Given the description of an element on the screen output the (x, y) to click on. 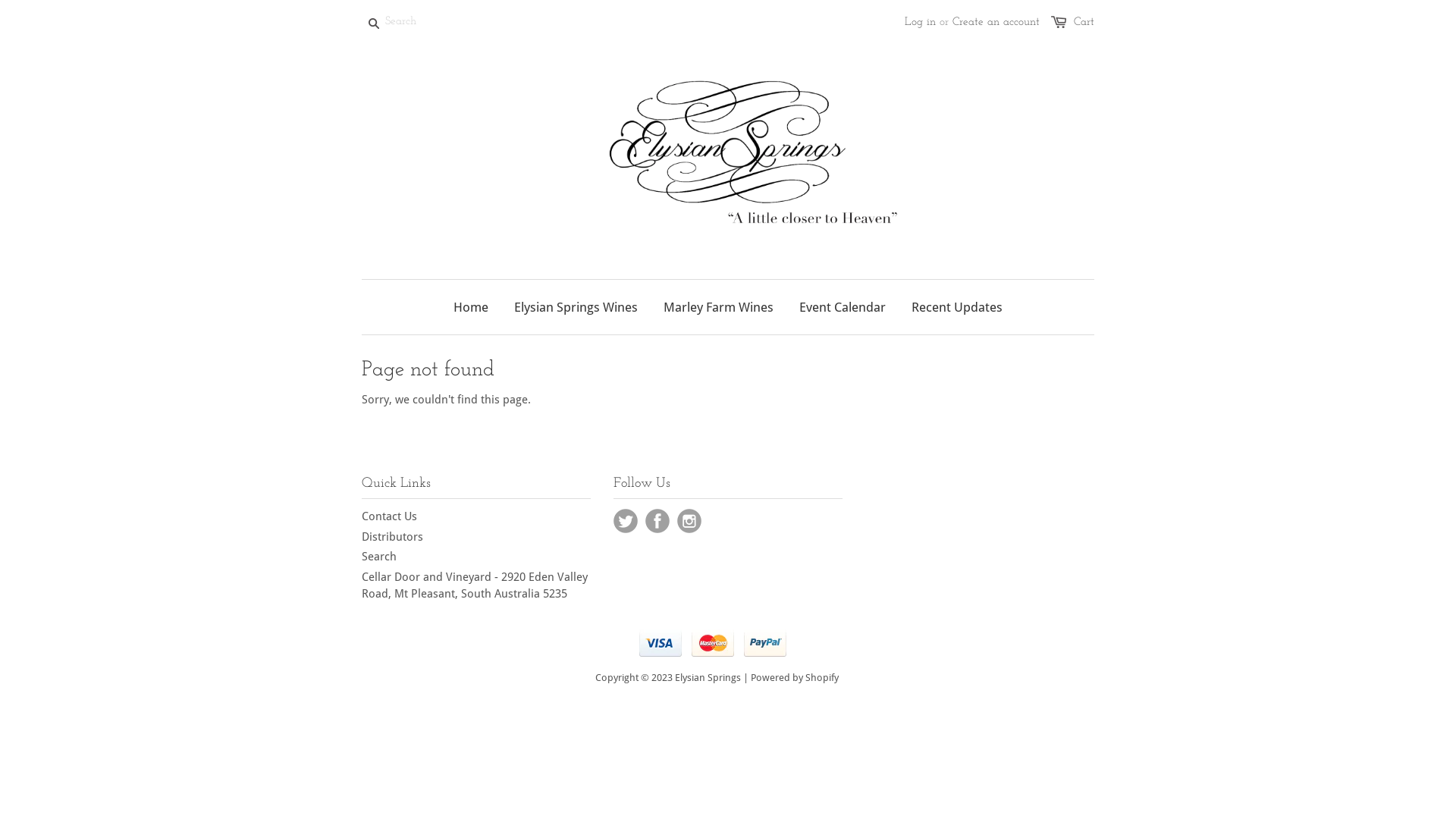
Facebook Element type: text (657, 520)
Search Element type: text (378, 556)
Contact Us Element type: text (389, 516)
Marley Farm Wines Element type: text (718, 306)
Instagram Element type: text (689, 520)
Recent Updates Element type: text (956, 306)
Powered by Shopify Element type: text (794, 677)
Twitter Element type: text (625, 520)
Elysian Springs Element type: text (707, 677)
Cart Element type: text (1083, 22)
Event Calendar Element type: text (842, 306)
Elysian Springs Wines Element type: text (575, 306)
Distributors Element type: text (392, 536)
Create an account Element type: text (995, 22)
Log in Element type: text (919, 22)
Home Element type: text (470, 306)
